Given the description of an element on the screen output the (x, y) to click on. 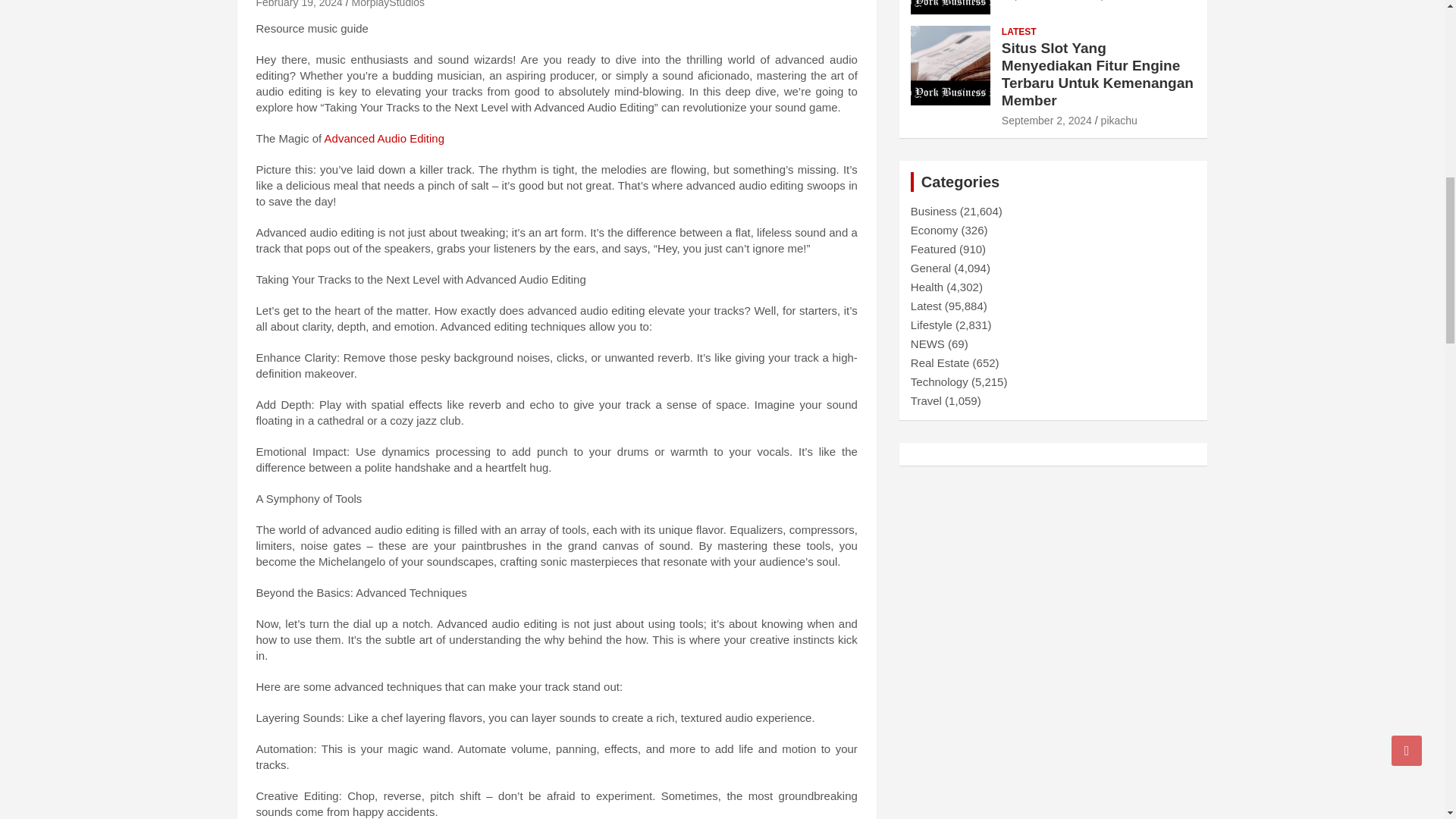
MorplayStudios (388, 4)
Advanced Audio Editing (384, 137)
February 19, 2024 (299, 4)
